Given the description of an element on the screen output the (x, y) to click on. 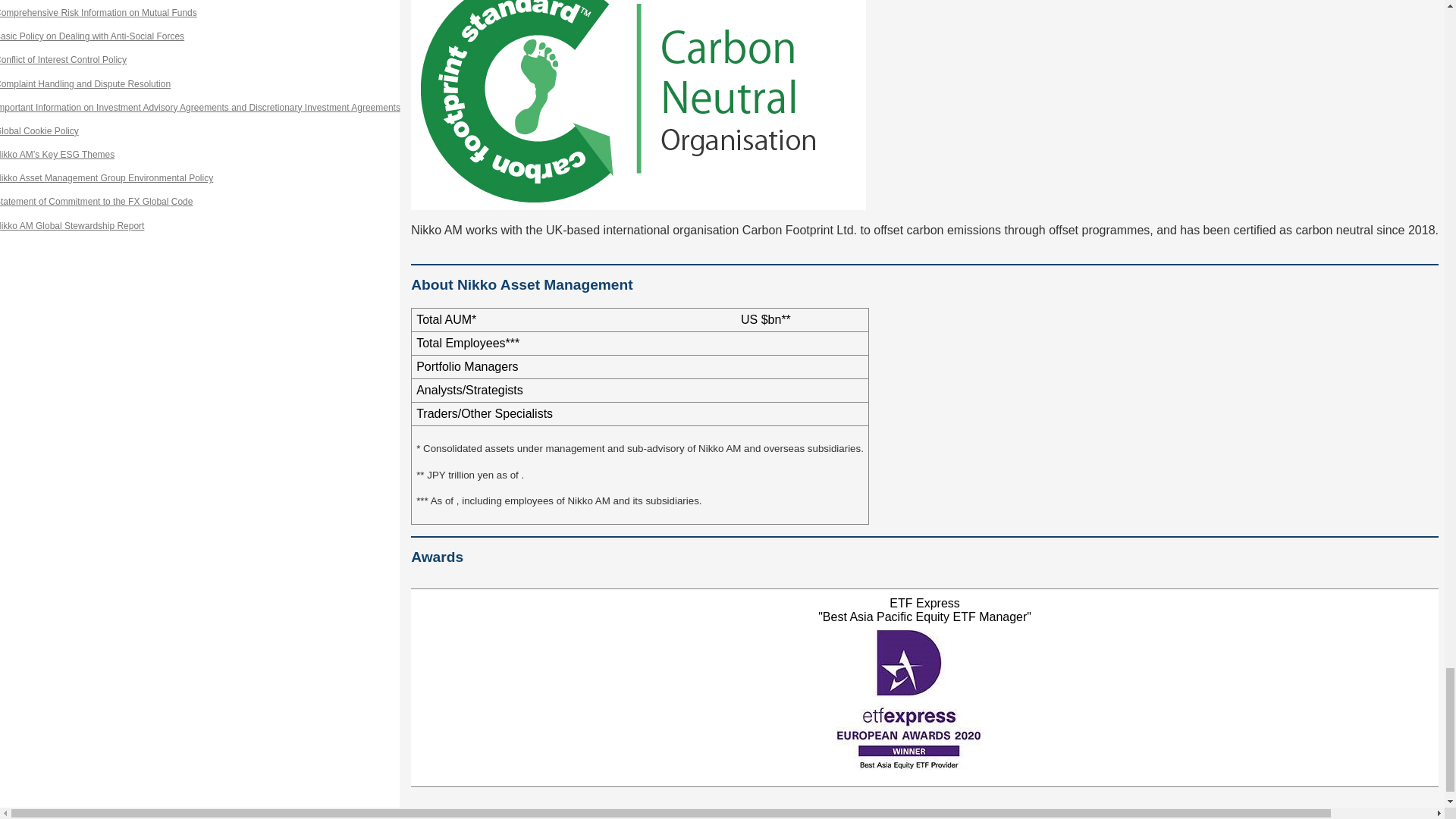
ETF Express (925, 699)
